Given the description of an element on the screen output the (x, y) to click on. 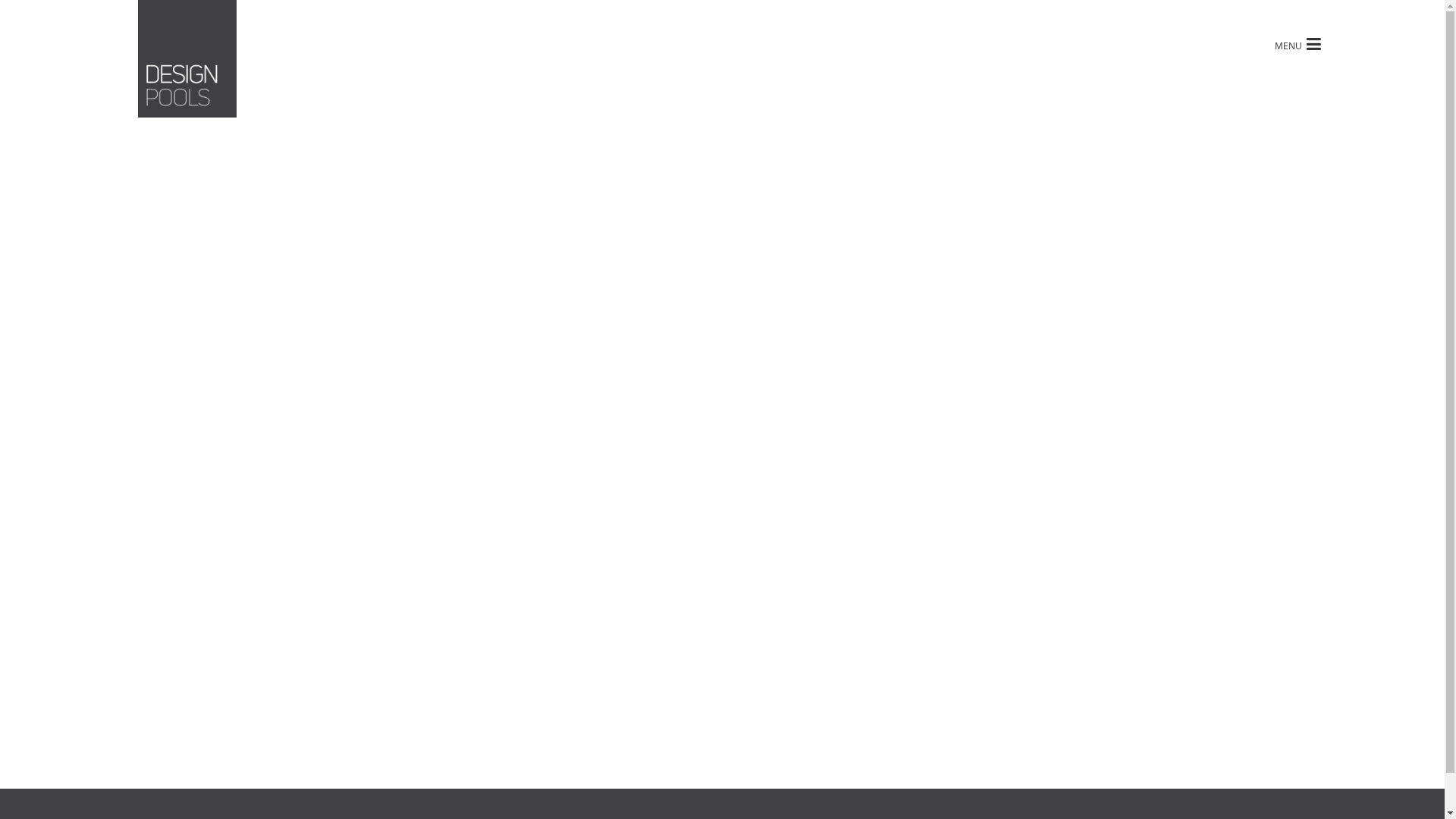
MENU Element type: text (1297, 43)
